Given the description of an element on the screen output the (x, y) to click on. 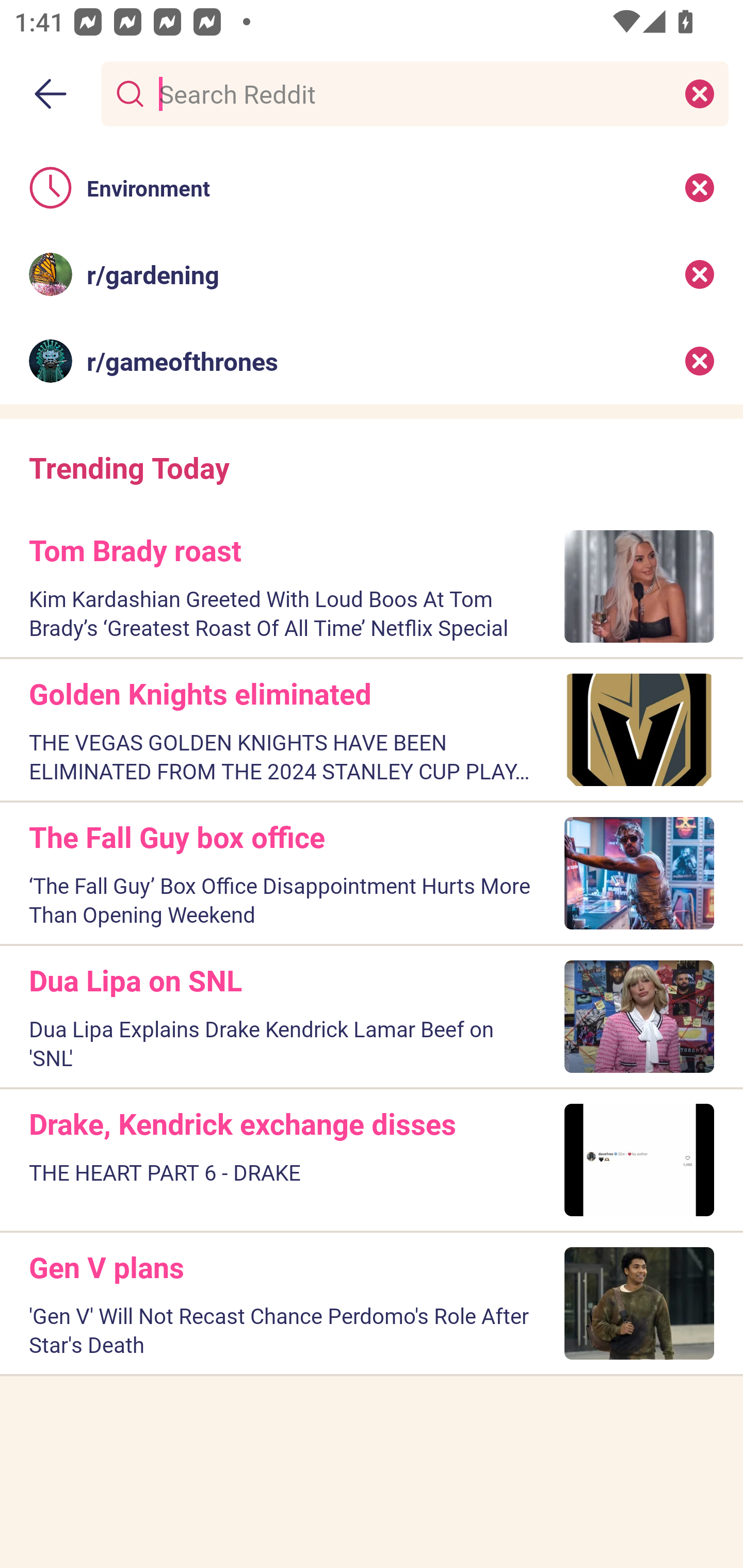
Back (50, 93)
Search Reddit (410, 93)
Clear search (699, 93)
Environment Recent search: Environment Remove (371, 187)
Remove (699, 187)
r/gardening Recent search: r/gardening Remove (371, 274)
Remove (699, 274)
Remove (699, 361)
